Given the description of an element on the screen output the (x, y) to click on. 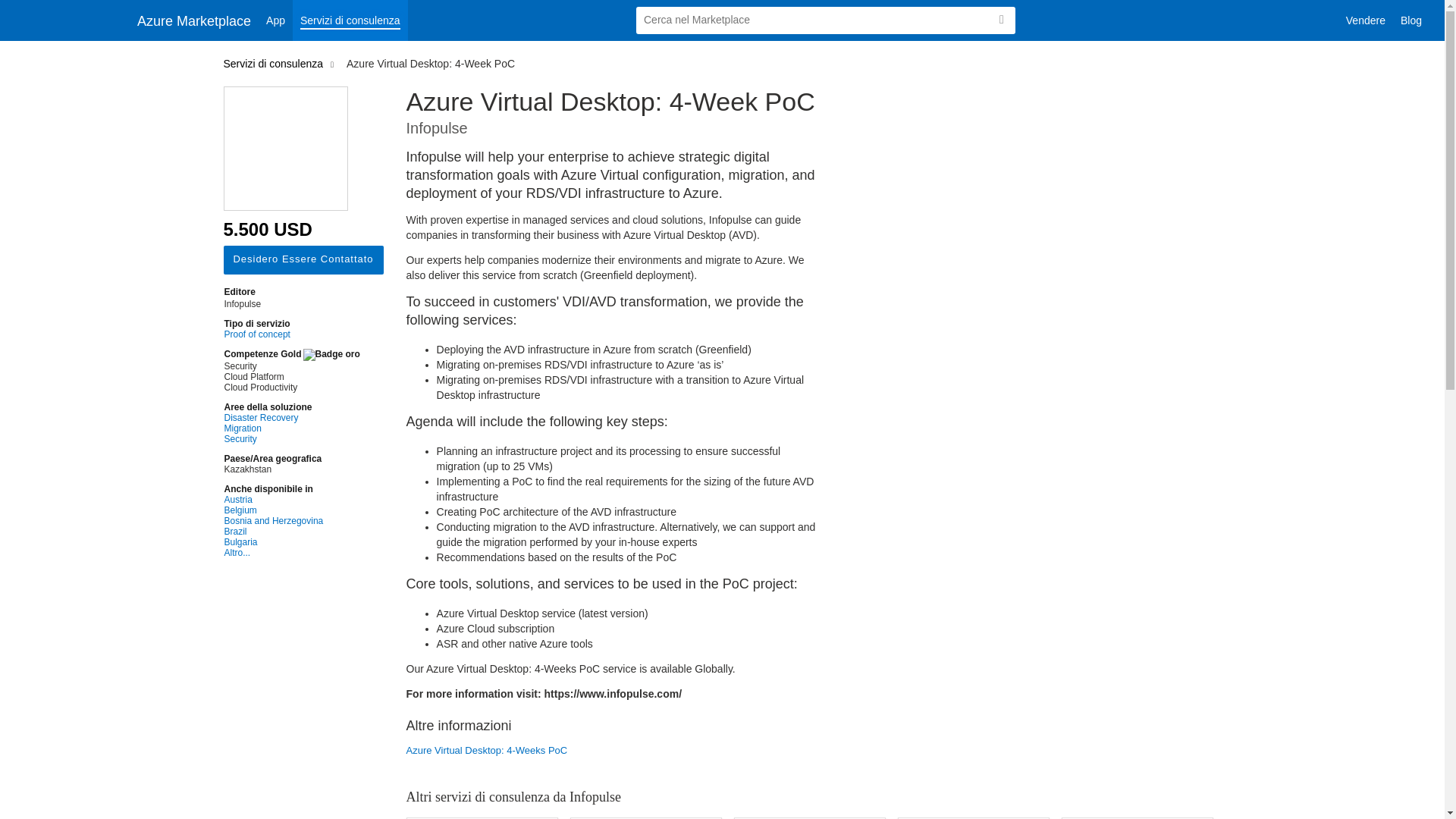
Blog (1411, 20)
App (275, 20)
Azure Marketplace (194, 20)
Servizi di consulenza (349, 20)
Belgium (291, 510)
Desidero Essere Contattato (302, 259)
Proof of concept (291, 334)
Security (291, 439)
Search (1001, 19)
Disaster Recovery (291, 417)
Austria (291, 499)
Migration (291, 428)
Bulgaria (291, 542)
Brazil (291, 531)
Vendere (1365, 20)
